Given the description of an element on the screen output the (x, y) to click on. 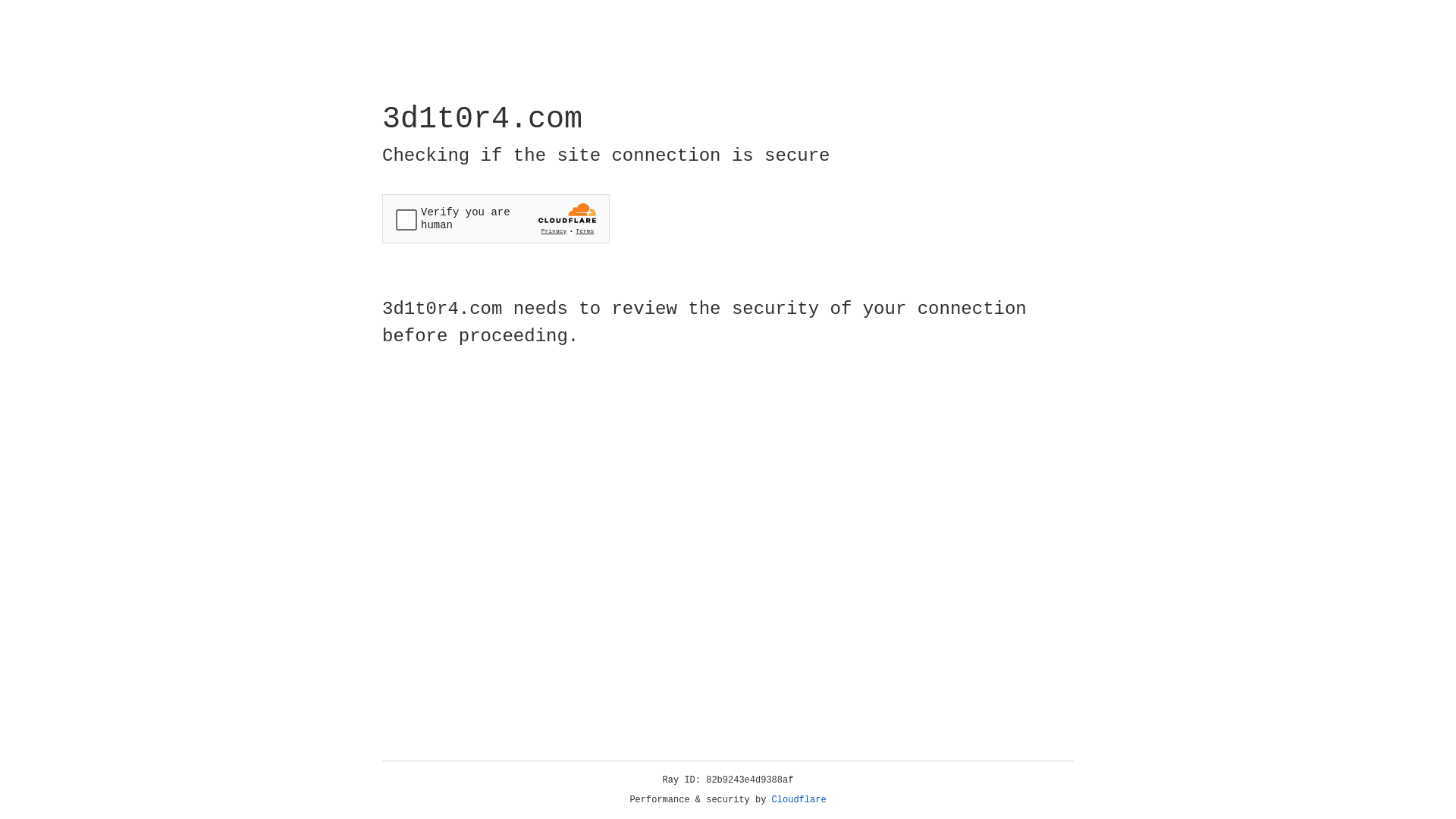
Widget containing a Cloudflare security challenge Element type: hover (495, 218)
Cloudflare Element type: text (798, 799)
